Given the description of an element on the screen output the (x, y) to click on. 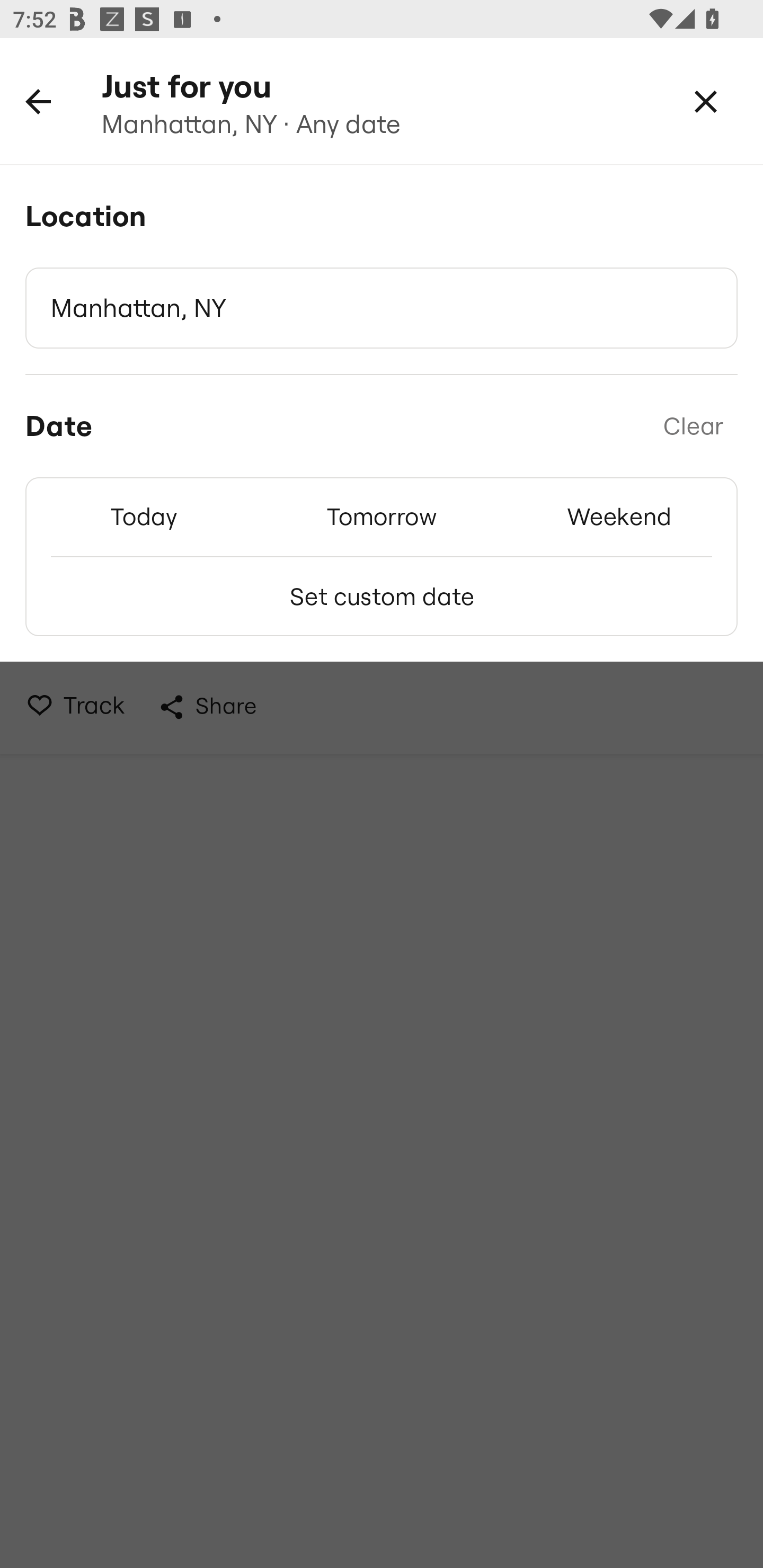
Back (38, 100)
Close (705, 100)
Manhattan, NY (381, 308)
Clear (693, 426)
Today (143, 516)
Tomorrow (381, 516)
Weekend (618, 516)
Set custom date (381, 596)
